Given the description of an element on the screen output the (x, y) to click on. 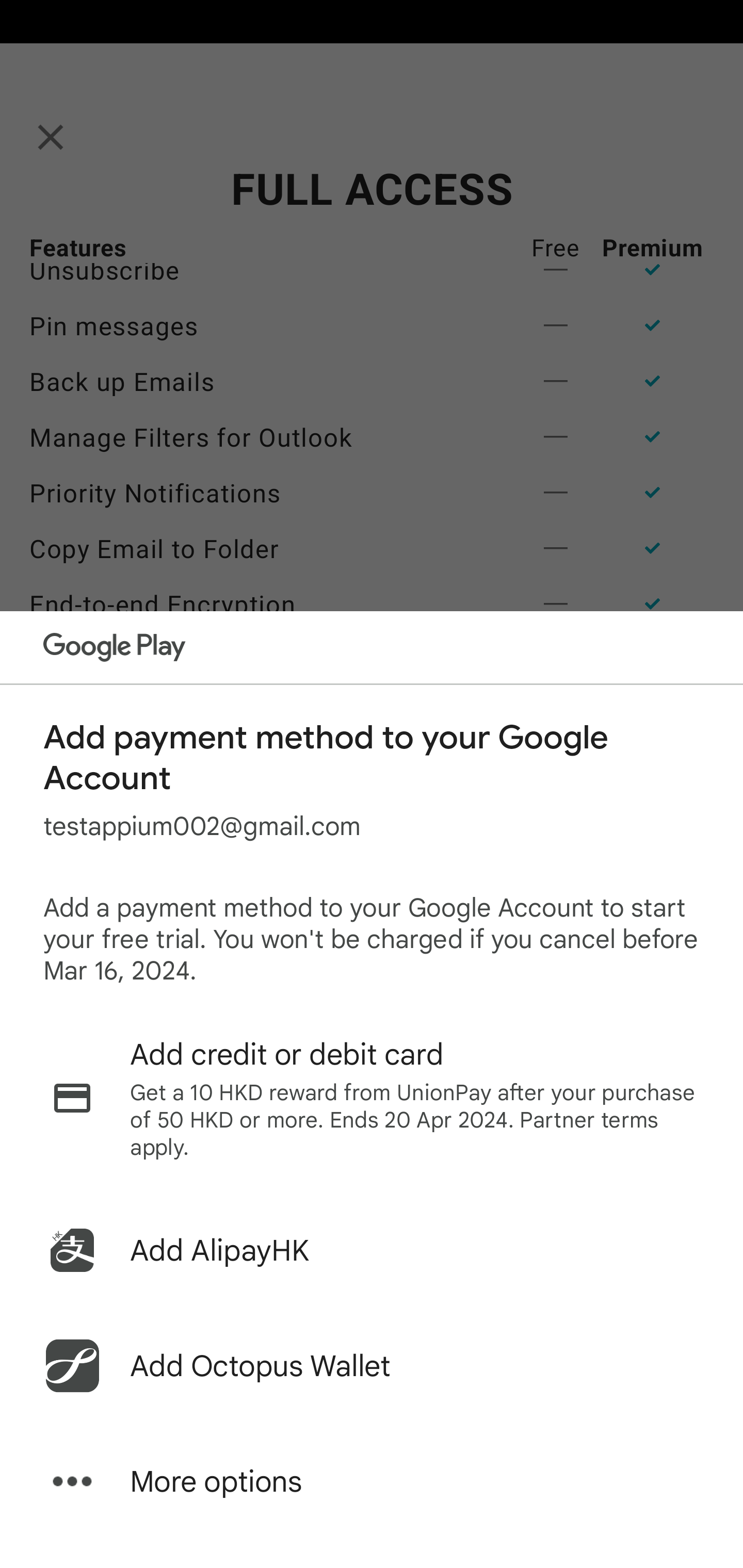
Add AlipayHK (371, 1250)
Add Octopus Wallet (371, 1365)
More options (371, 1481)
